Given the description of an element on the screen output the (x, y) to click on. 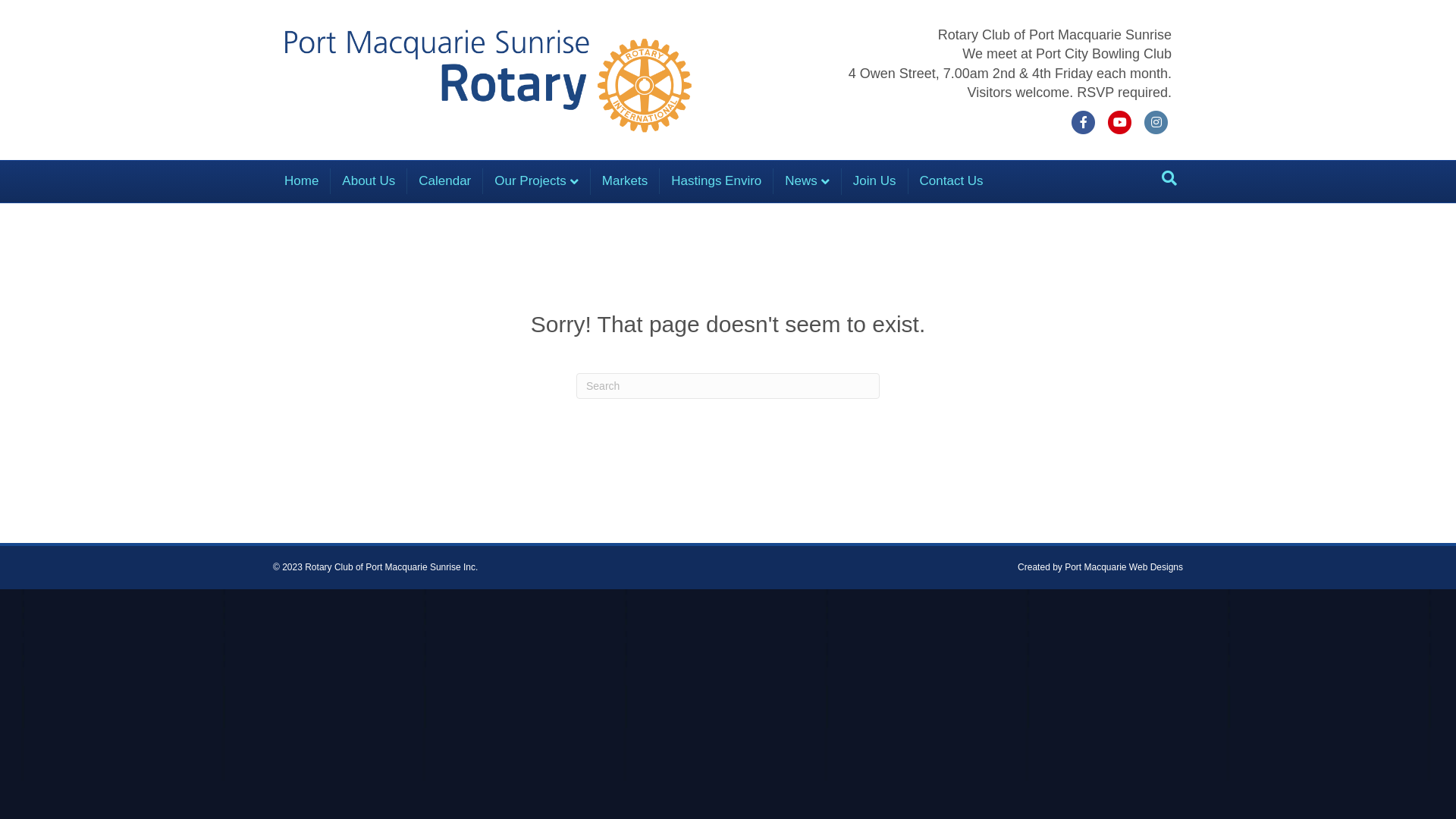
Hastings Enviro Element type: text (716, 181)
Markets Element type: text (624, 181)
Facebook Element type: text (1083, 121)
Type and press Enter to search. Element type: hover (727, 385)
About Us Element type: text (368, 181)
Youtube Element type: text (1119, 121)
Contact Us Element type: text (951, 181)
Join Us Element type: text (874, 181)
Instagram Element type: text (1156, 121)
Calendar Element type: text (445, 181)
News Element type: text (807, 181)
Home Element type: text (301, 181)
Created by Port Macquarie Web Designs Element type: text (1100, 566)
Our Projects Element type: text (536, 181)
